Given the description of an element on the screen output the (x, y) to click on. 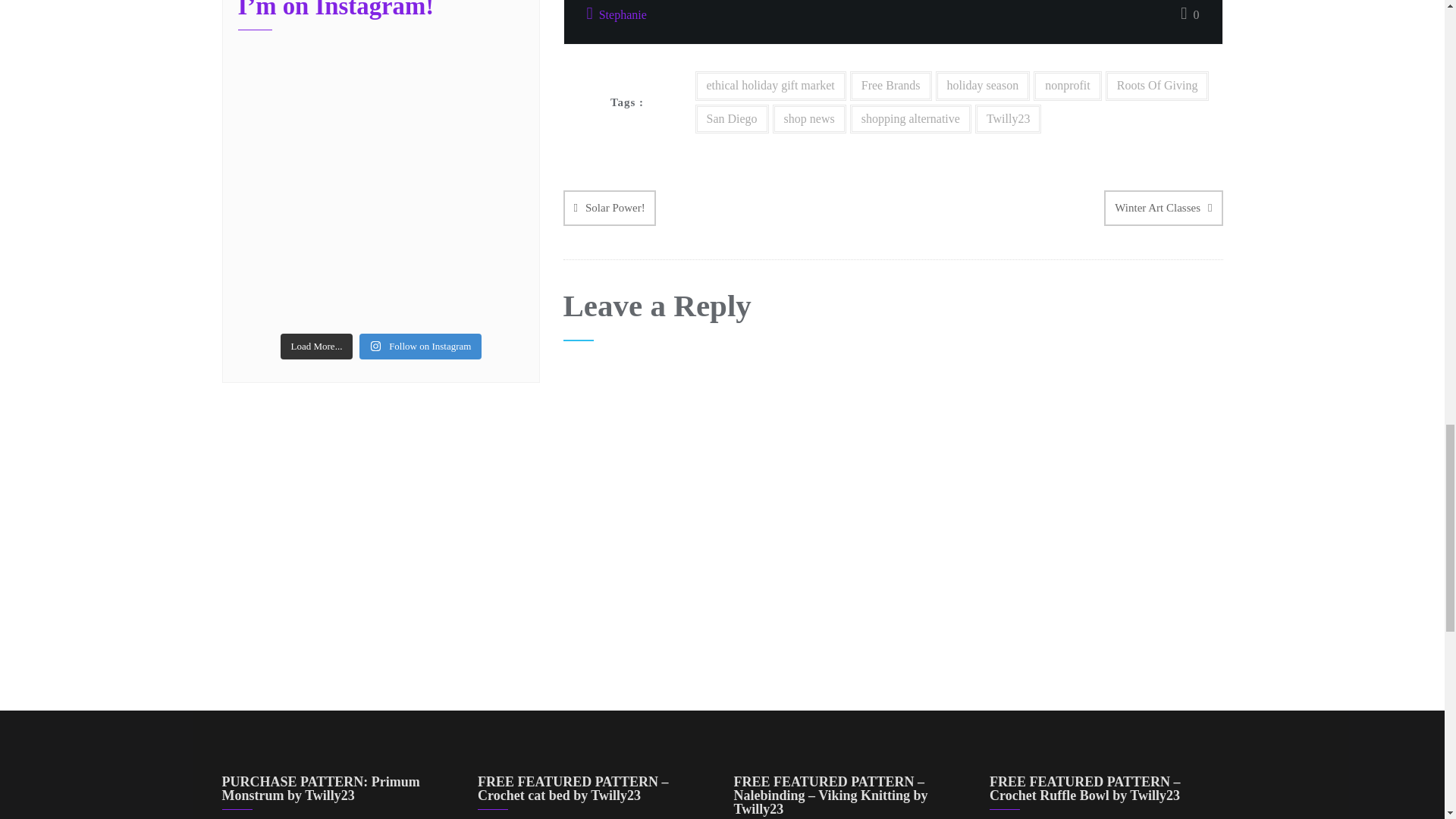
ethical holiday gift market (769, 85)
shop news (809, 119)
holiday season (983, 85)
Stephanie (616, 15)
Free Brands (890, 85)
nonprofit (1067, 85)
San Diego (731, 119)
Roots Of Giving (1157, 85)
